Given the description of an element on the screen output the (x, y) to click on. 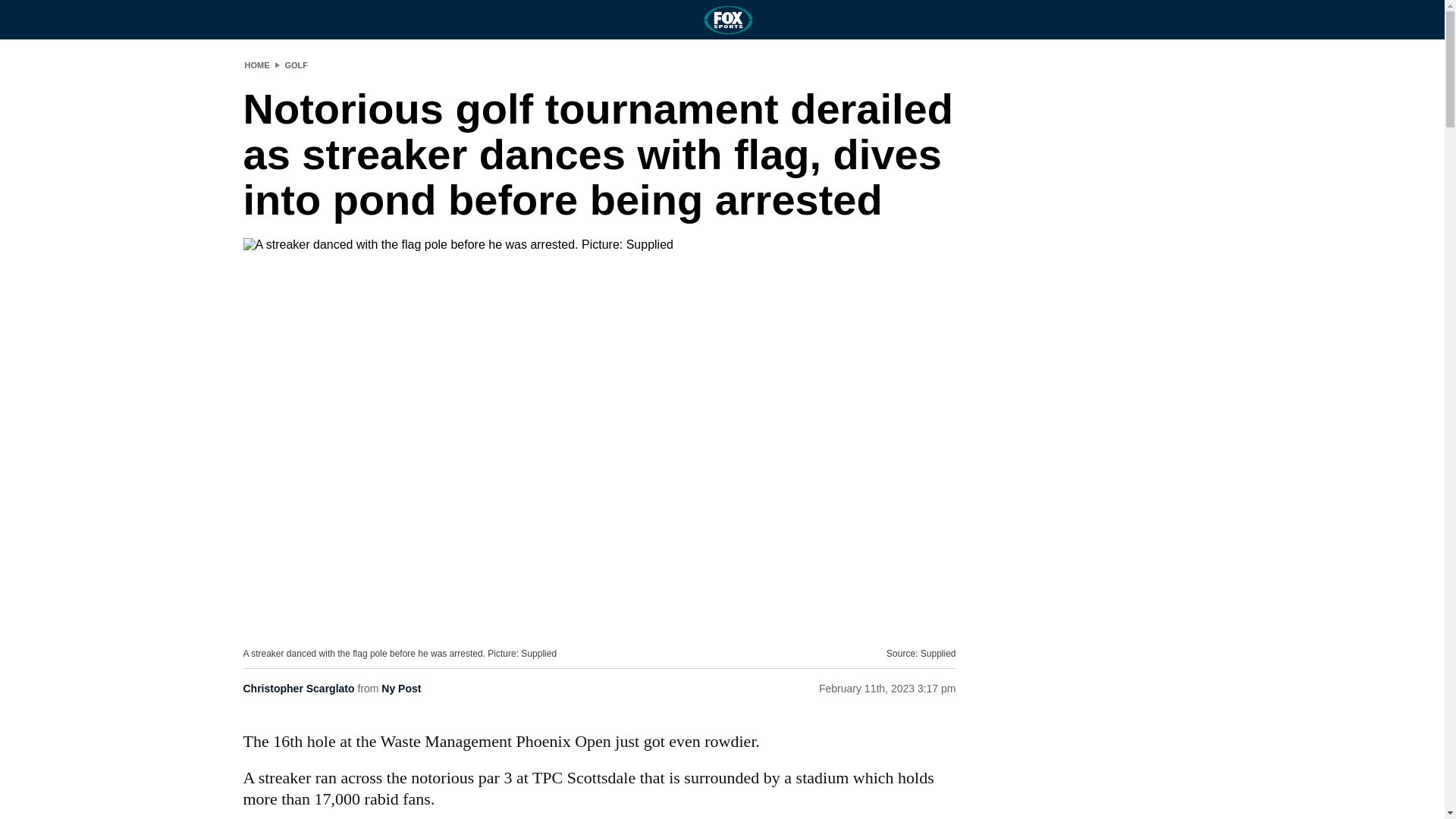
GOLF (296, 64)
HOME (256, 64)
